Given the description of an element on the screen output the (x, y) to click on. 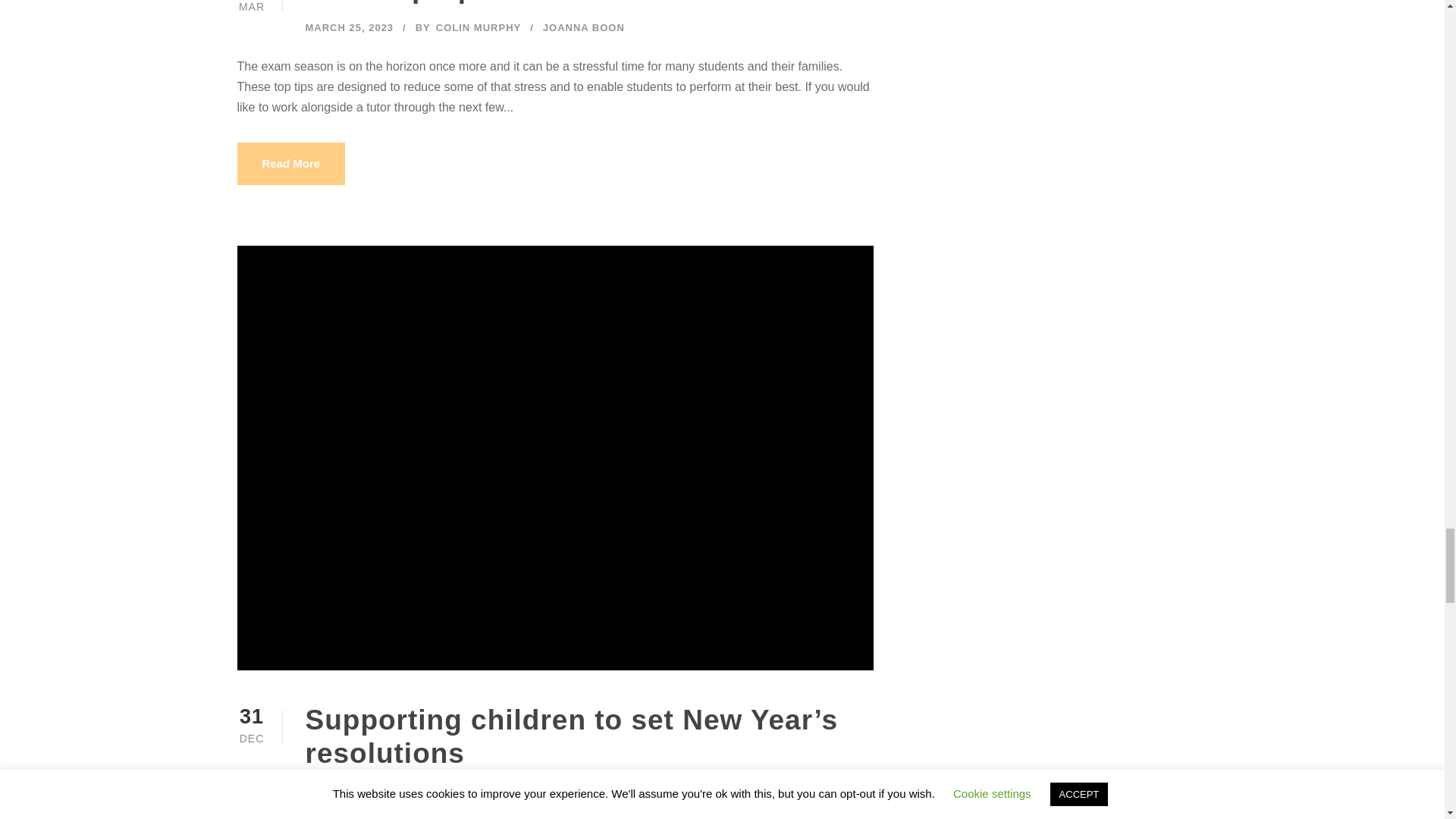
Posts by Colin Murphy (500, 792)
Posts by Colin Murphy (478, 27)
